Given the description of an element on the screen output the (x, y) to click on. 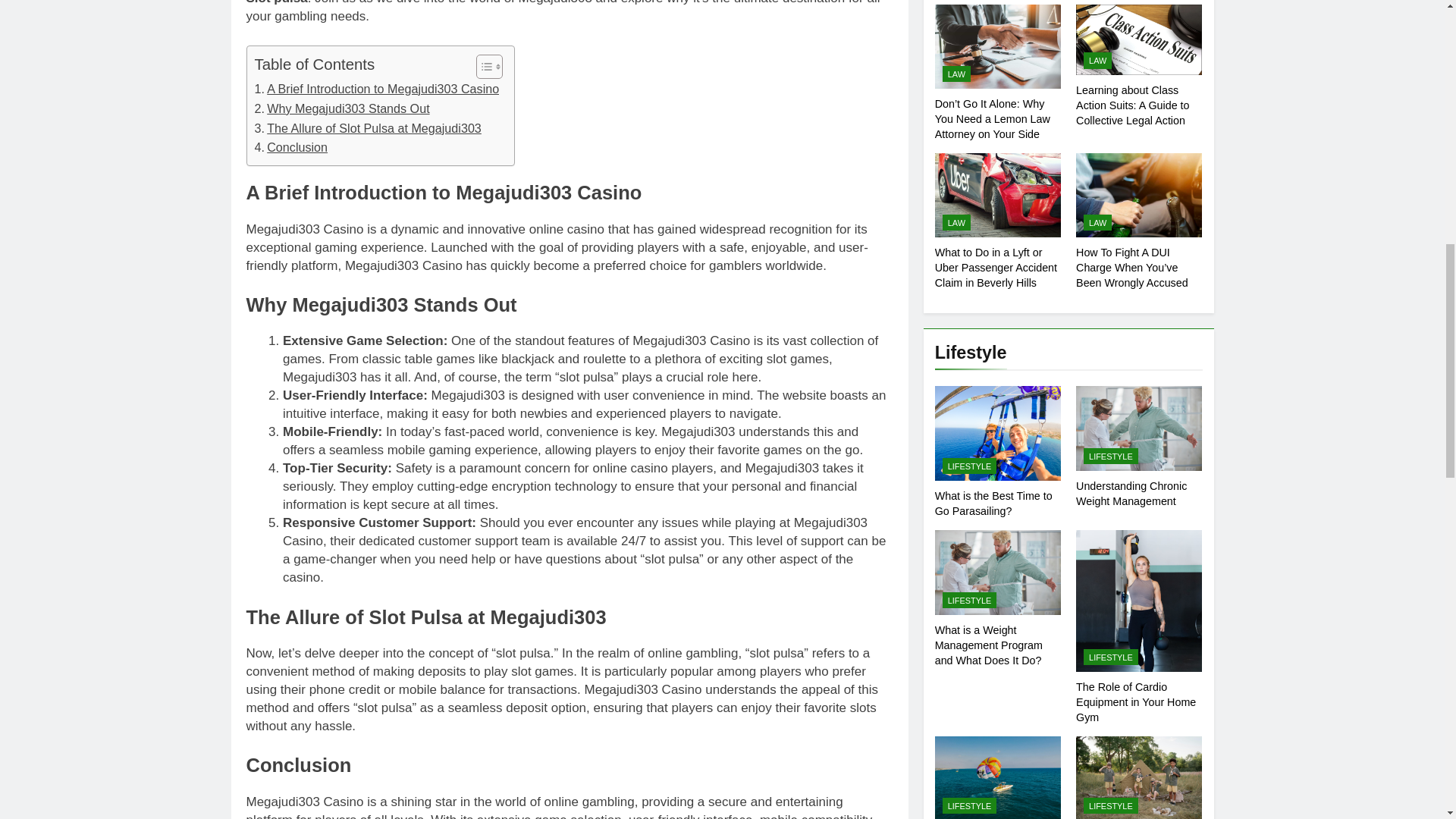
The Allure of Slot Pulsa at Megajudi303 (367, 128)
Why Megajudi303 Stands Out (341, 108)
Conclusion (291, 148)
A Brief Introduction to Megajudi303 Casino (376, 89)
